Given the description of an element on the screen output the (x, y) to click on. 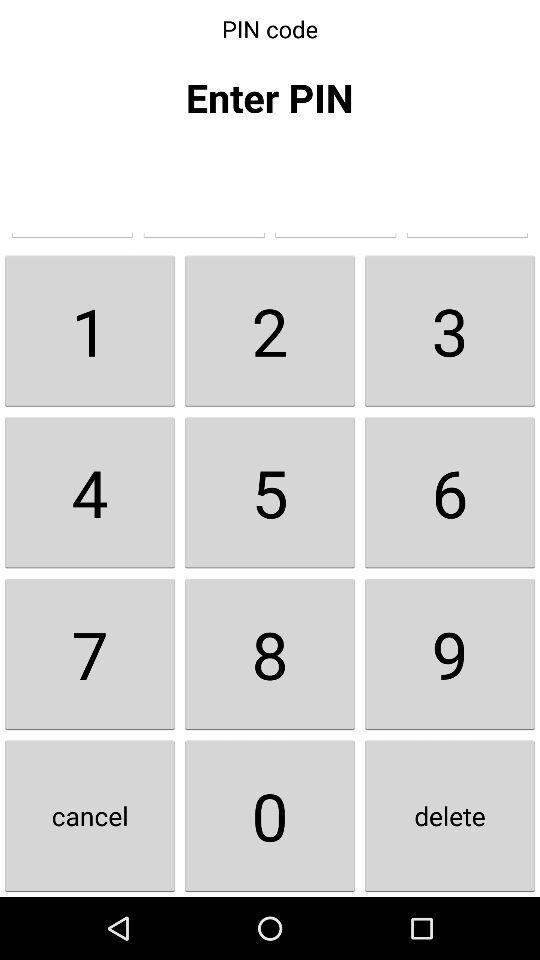
turn off 6 item (450, 492)
